Given the description of an element on the screen output the (x, y) to click on. 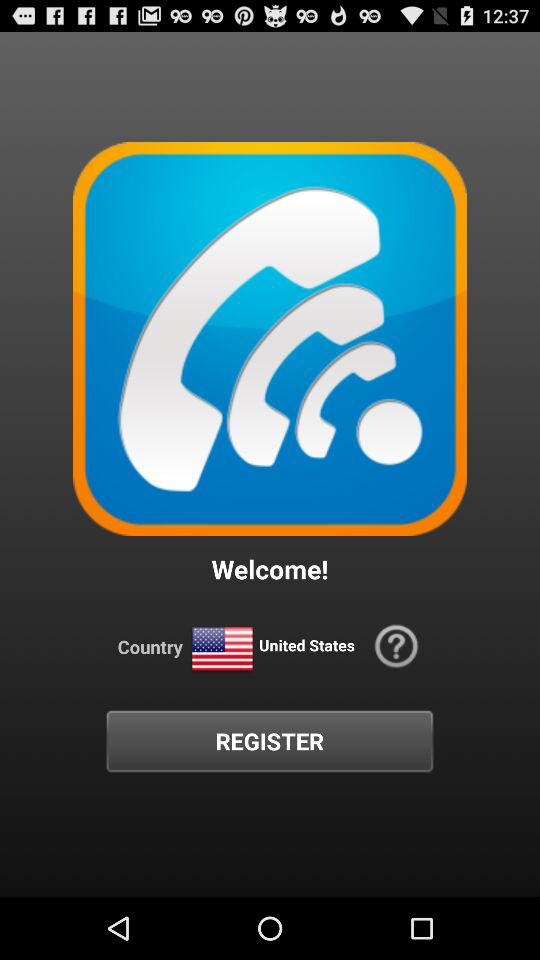
launch the icon to the right of the country item (221, 649)
